Given the description of an element on the screen output the (x, y) to click on. 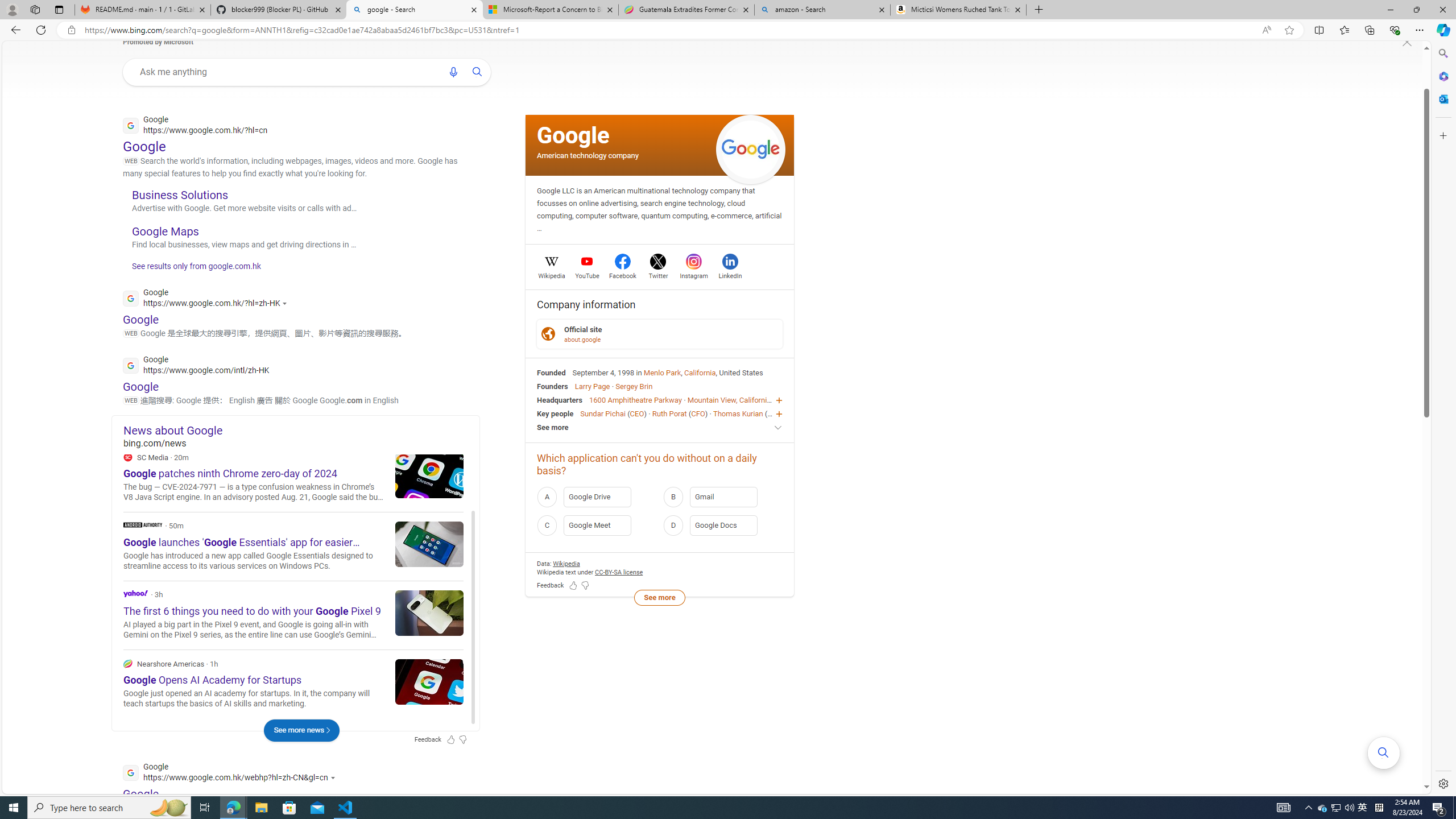
Ruth Porat (669, 412)
Feedback Like (573, 585)
Founders (552, 385)
CFO (697, 412)
D Google Docs (722, 525)
Copy (432, 483)
CEO (774, 412)
Google Opens AI Academy for Startups (428, 681)
Larry Page (592, 385)
